Given the description of an element on the screen output the (x, y) to click on. 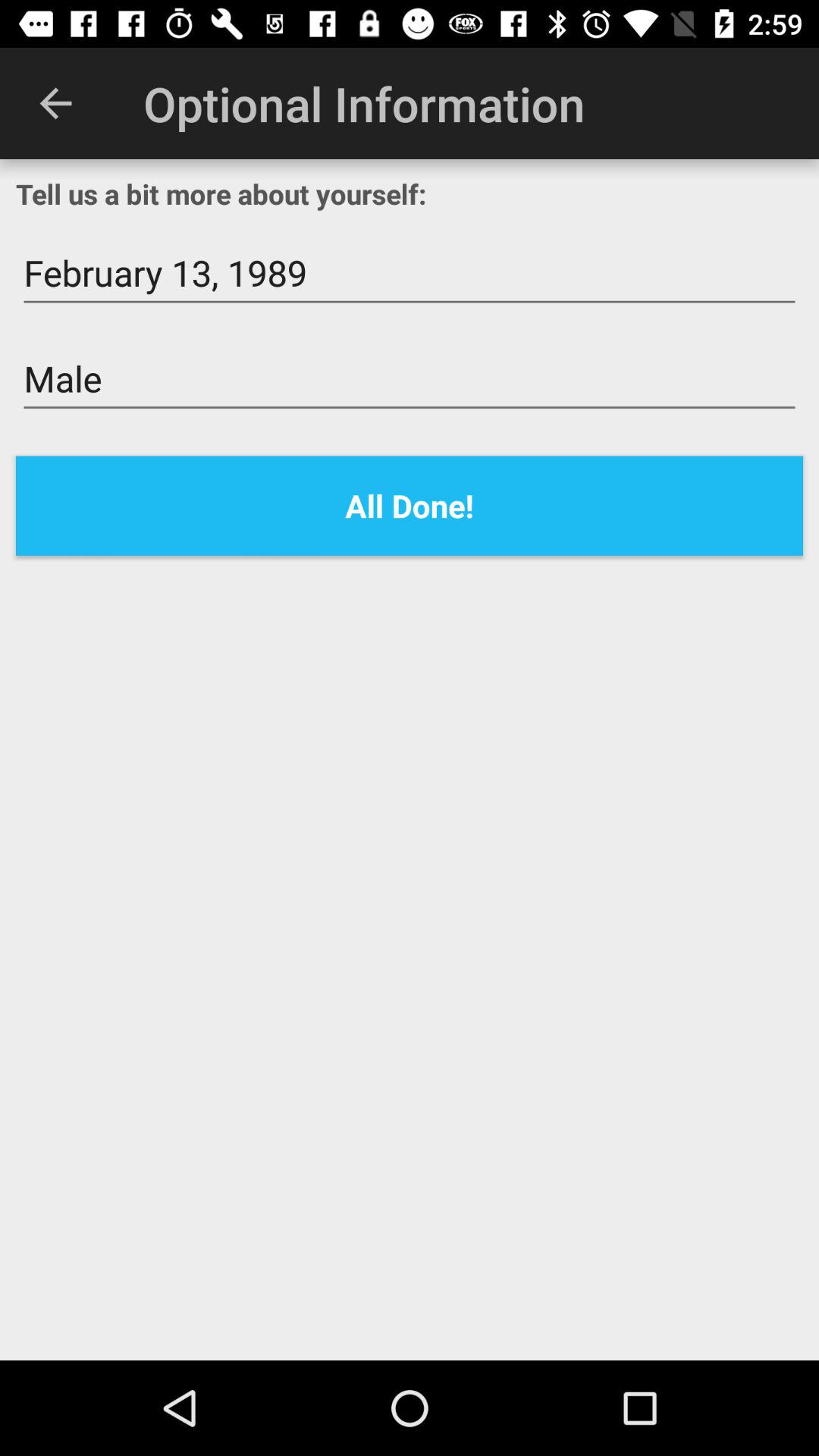
turn off the icon below male (409, 505)
